Given the description of an element on the screen output the (x, y) to click on. 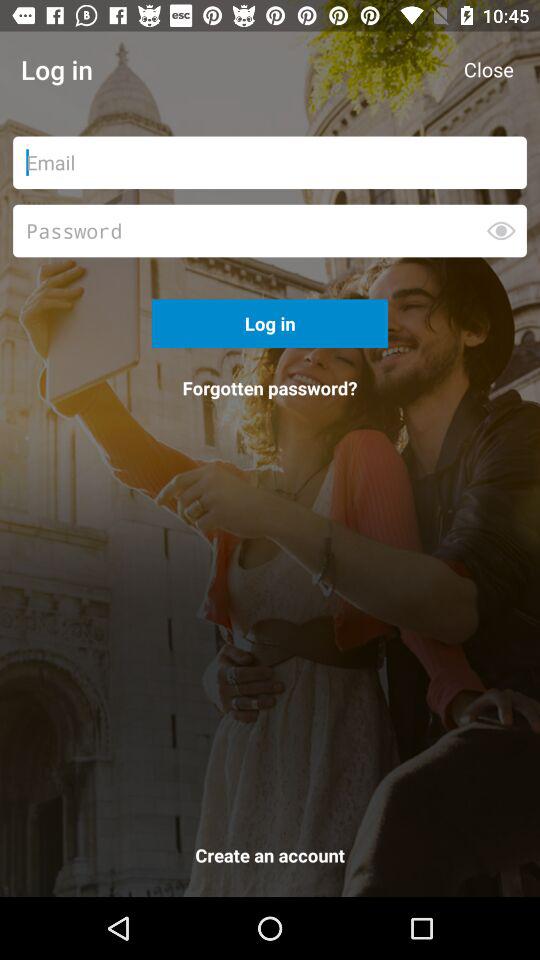
choose the icon below log in (269, 387)
